Given the description of an element on the screen output the (x, y) to click on. 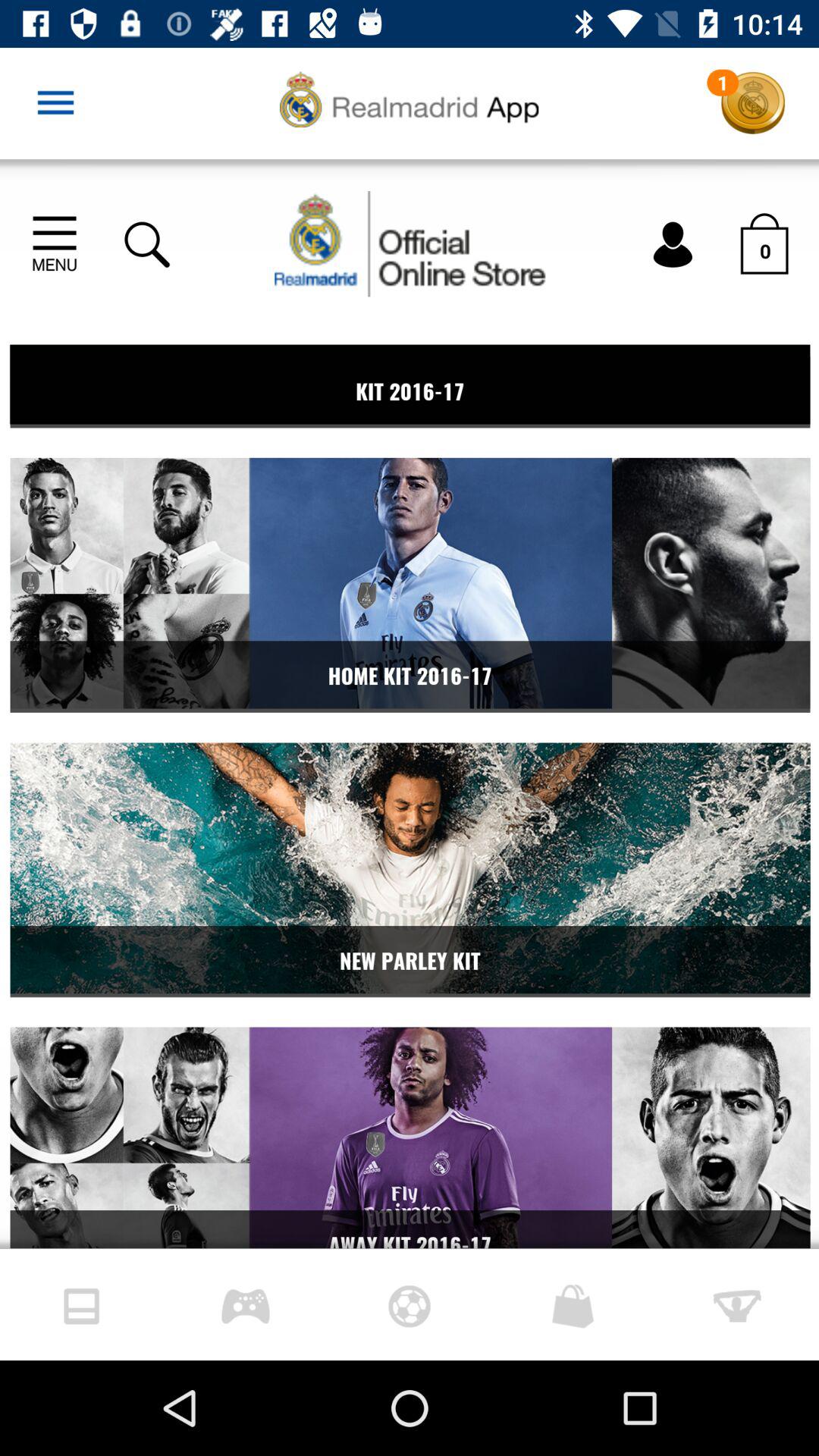
takes you to the menu of the app (55, 103)
